Given the description of an element on the screen output the (x, y) to click on. 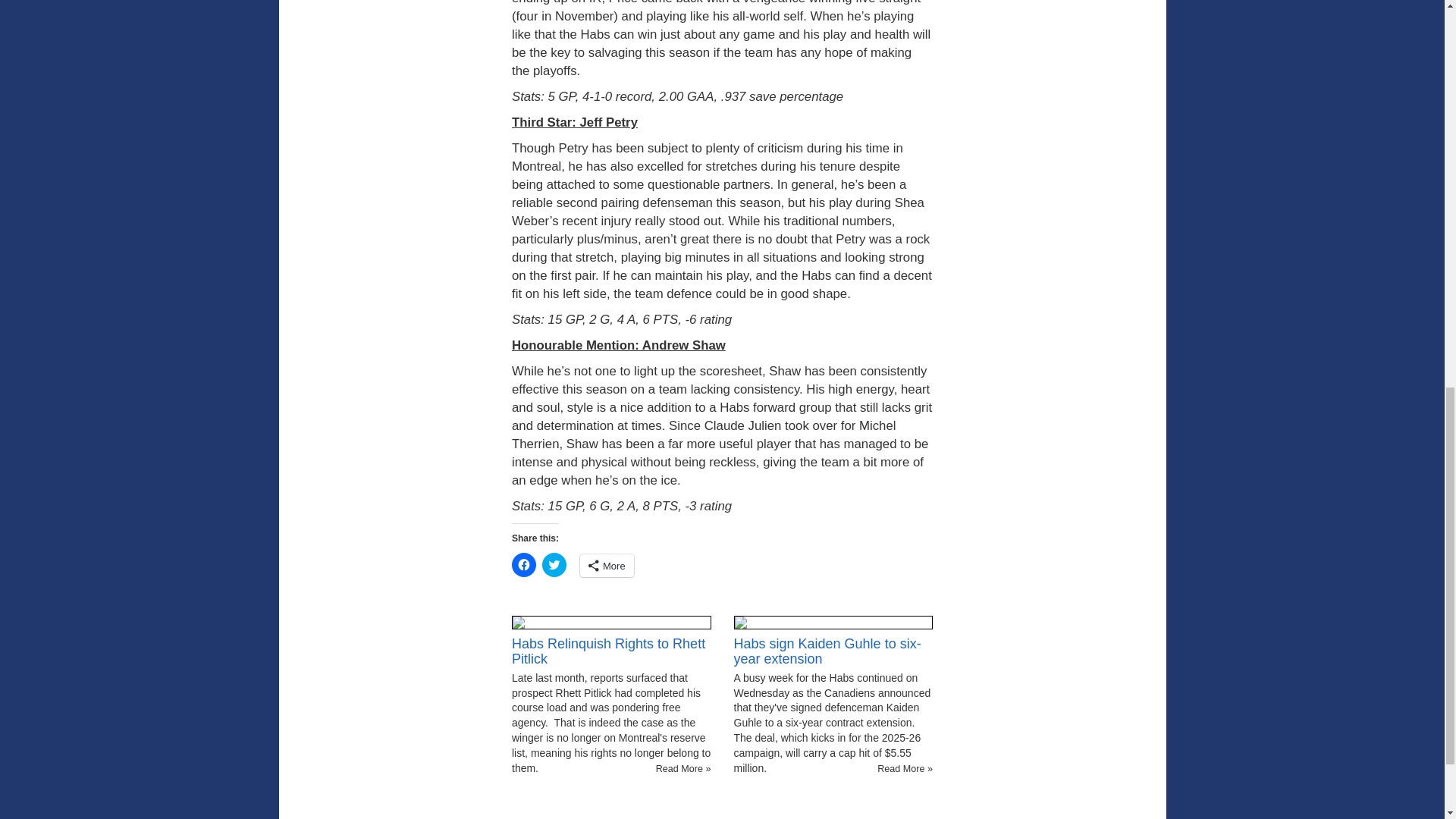
Click to share on Facebook (523, 564)
More (606, 565)
Click to share on Twitter (553, 564)
